Given the description of an element on the screen output the (x, y) to click on. 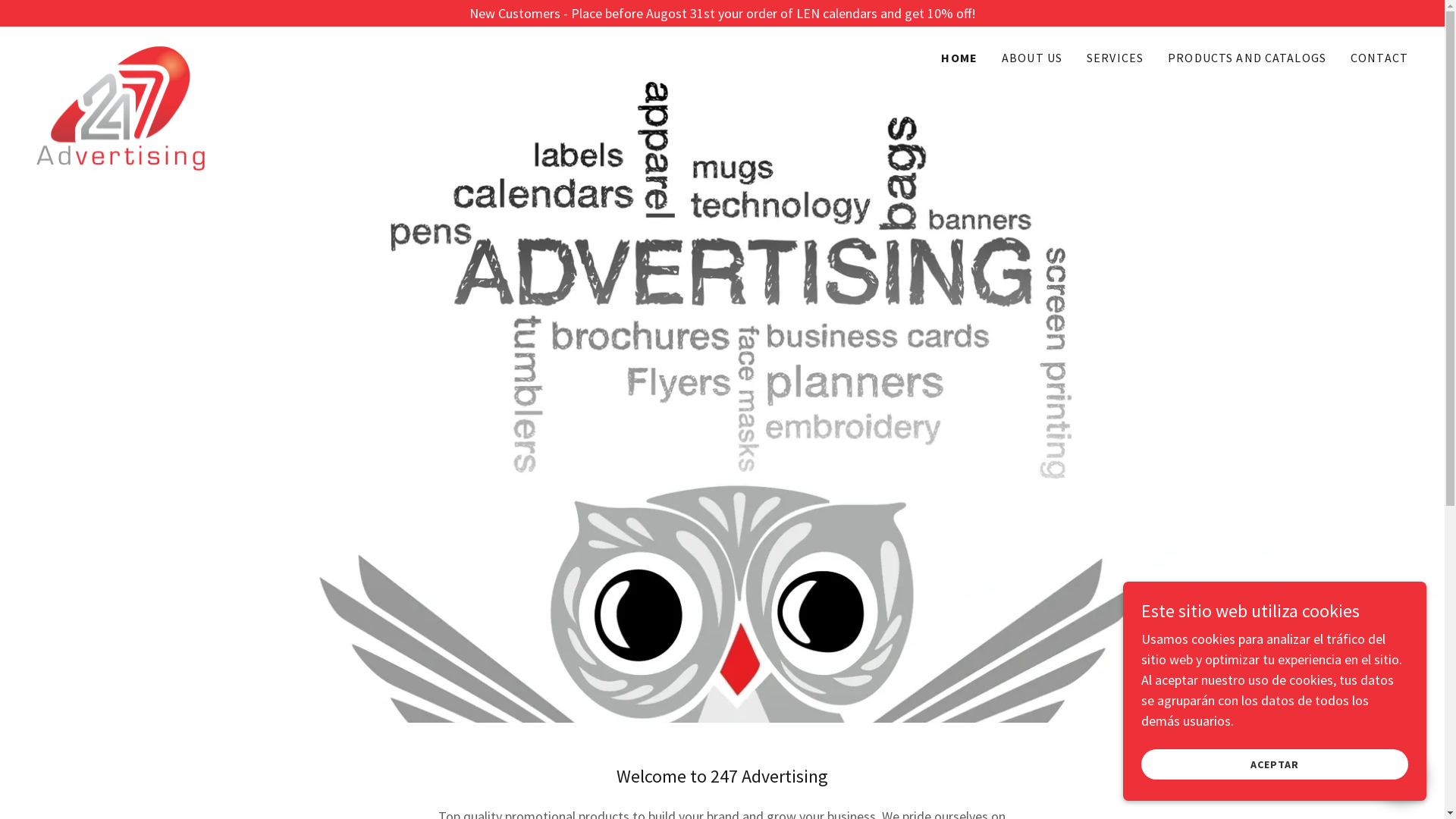
HOME Element type: text (959, 57)
ABOUT US Element type: text (1031, 57)
3169459000018330003gc Element type: hover (120, 52)
CONTACT Element type: text (1379, 57)
PRODUCTS AND CATALOGS Element type: text (1246, 57)
ACEPTAR Element type: text (1274, 764)
SERVICES Element type: text (1115, 57)
